Given the description of an element on the screen output the (x, y) to click on. 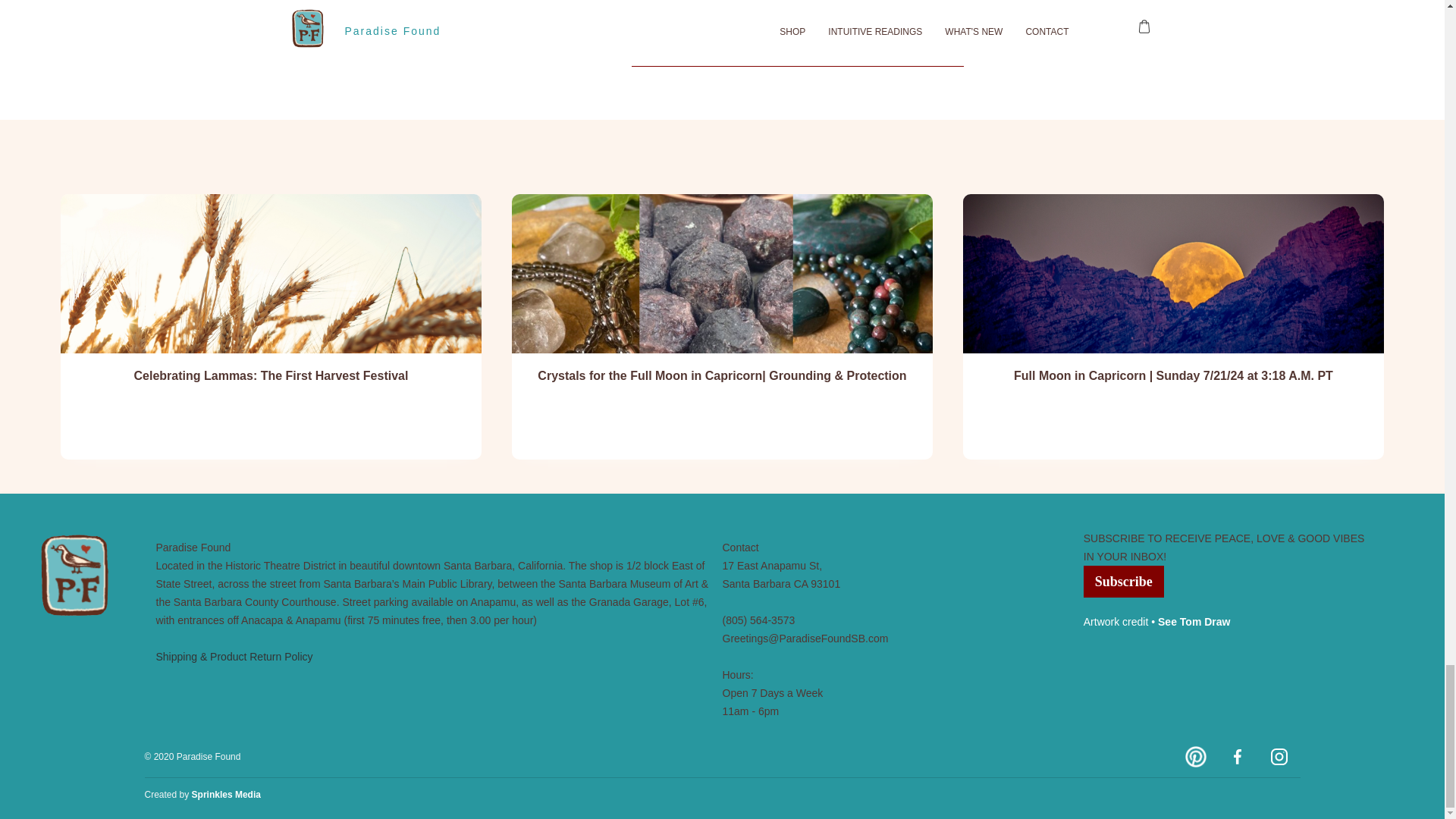
Submit (1013, 48)
